Given the description of an element on the screen output the (x, y) to click on. 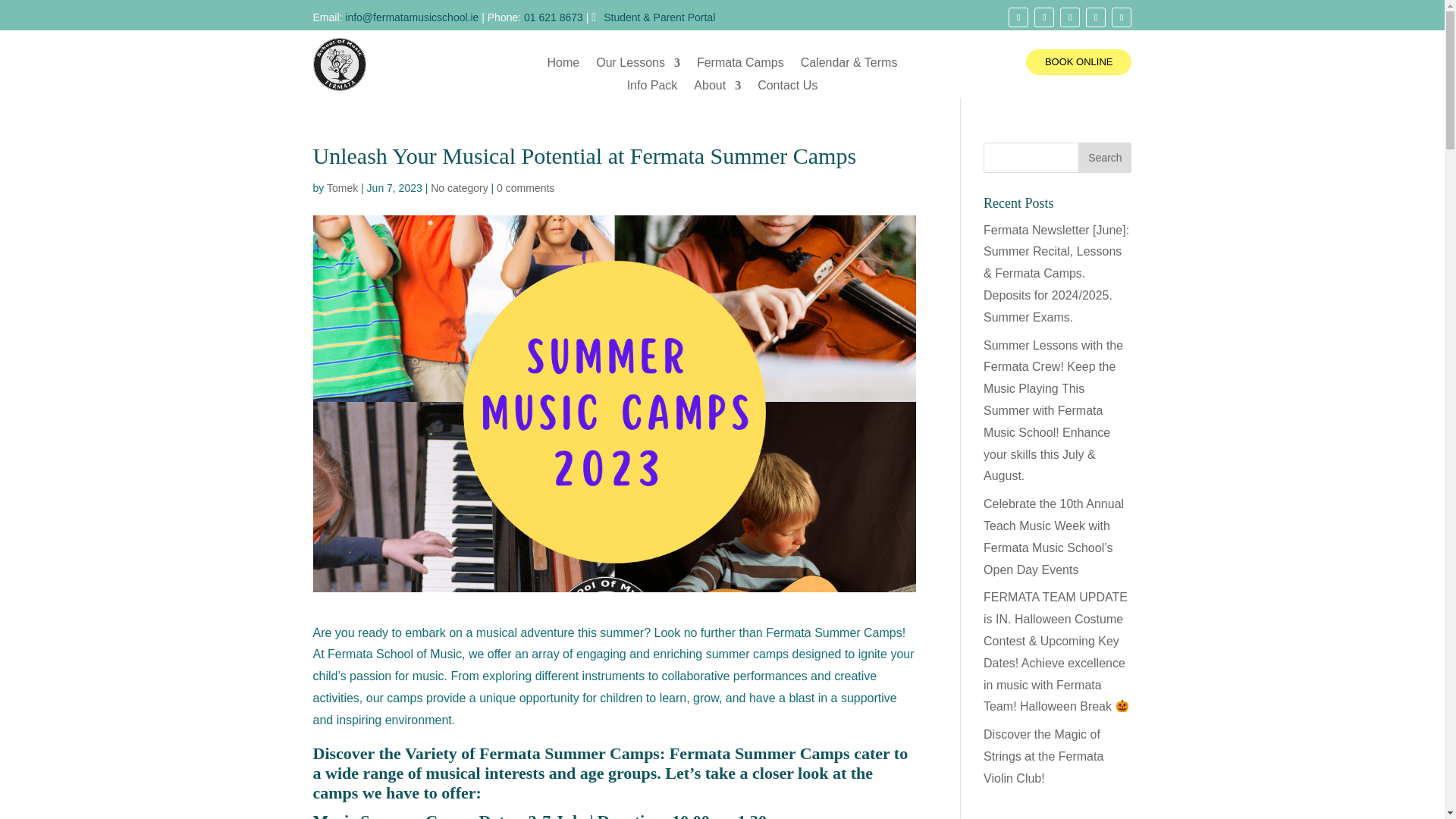
Follow on Twitter (1043, 17)
Follow on Instagram (1069, 17)
Posts by Tomek (342, 187)
Search (1104, 157)
Info Pack (652, 88)
Fermata Camps (740, 65)
Follow on Facebook (1018, 17)
About (717, 88)
Contact Us (786, 88)
Follow on Youtube (1095, 17)
Our Lessons (637, 65)
Home (563, 65)
Fermata-Logo-512x512 (339, 63)
Follow on LinkedIn (1121, 17)
01 621 8673 (553, 17)
